Given the description of an element on the screen output the (x, y) to click on. 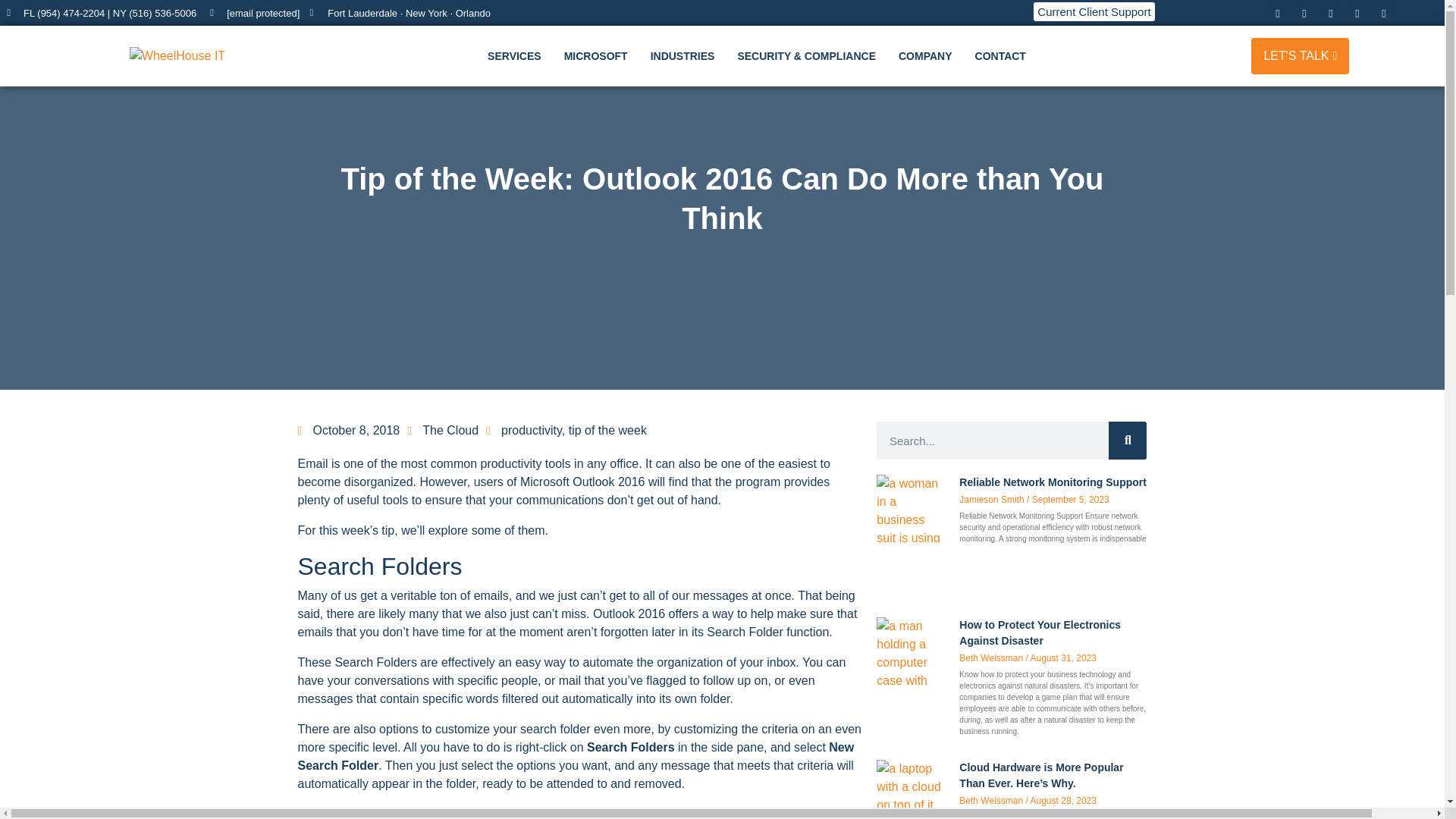
Current Client Support (1093, 11)
INDUSTRIES (686, 56)
SERVICES (518, 56)
MICROSOFT (599, 56)
Orlando (471, 12)
